Given the description of an element on the screen output the (x, y) to click on. 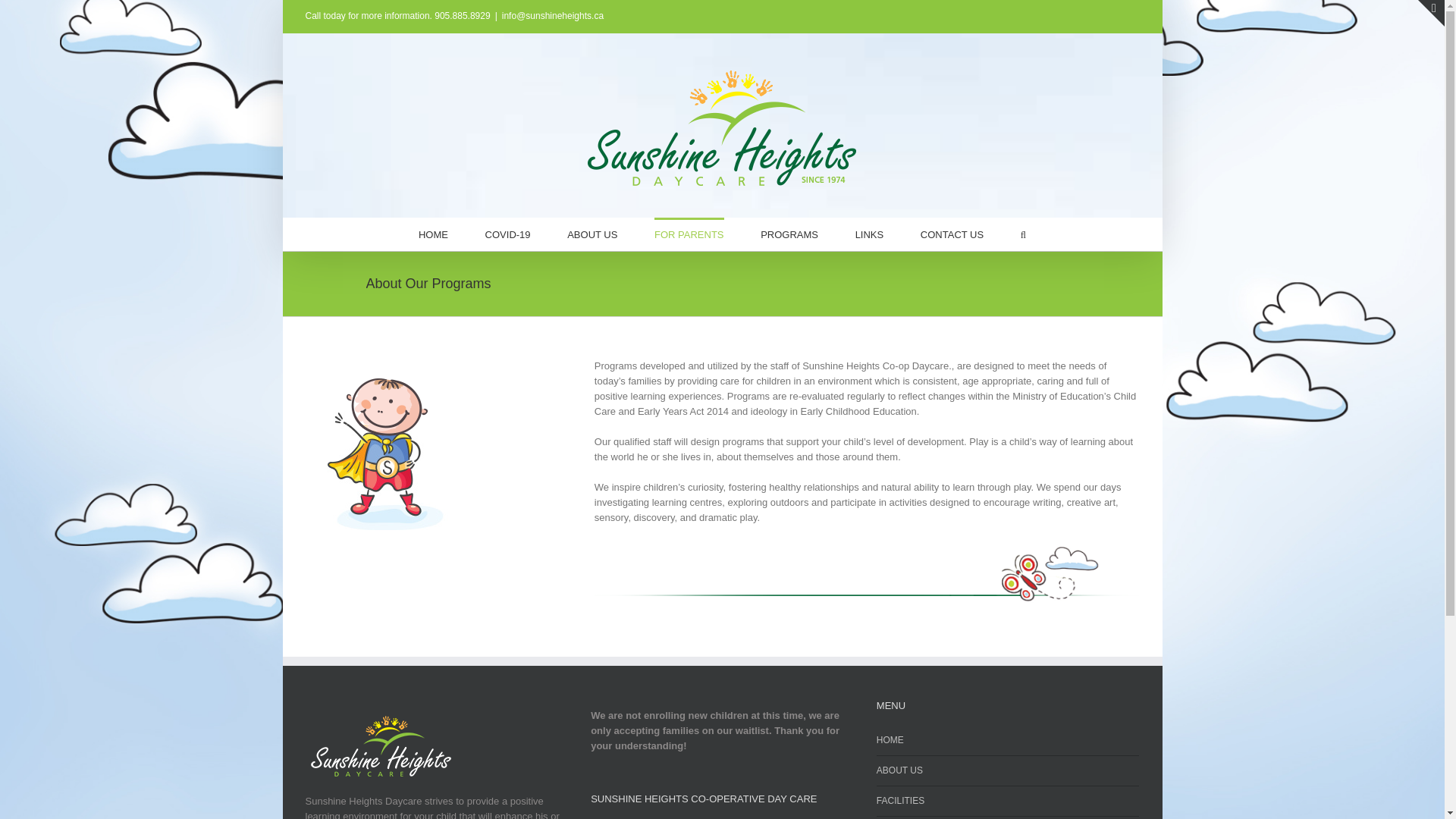
FOR PARENTS (688, 233)
COVID-19 (507, 233)
PROGRAMS (789, 233)
HOME (433, 233)
ABOUT US (592, 233)
CONTACT US (952, 233)
